Given the description of an element on the screen output the (x, y) to click on. 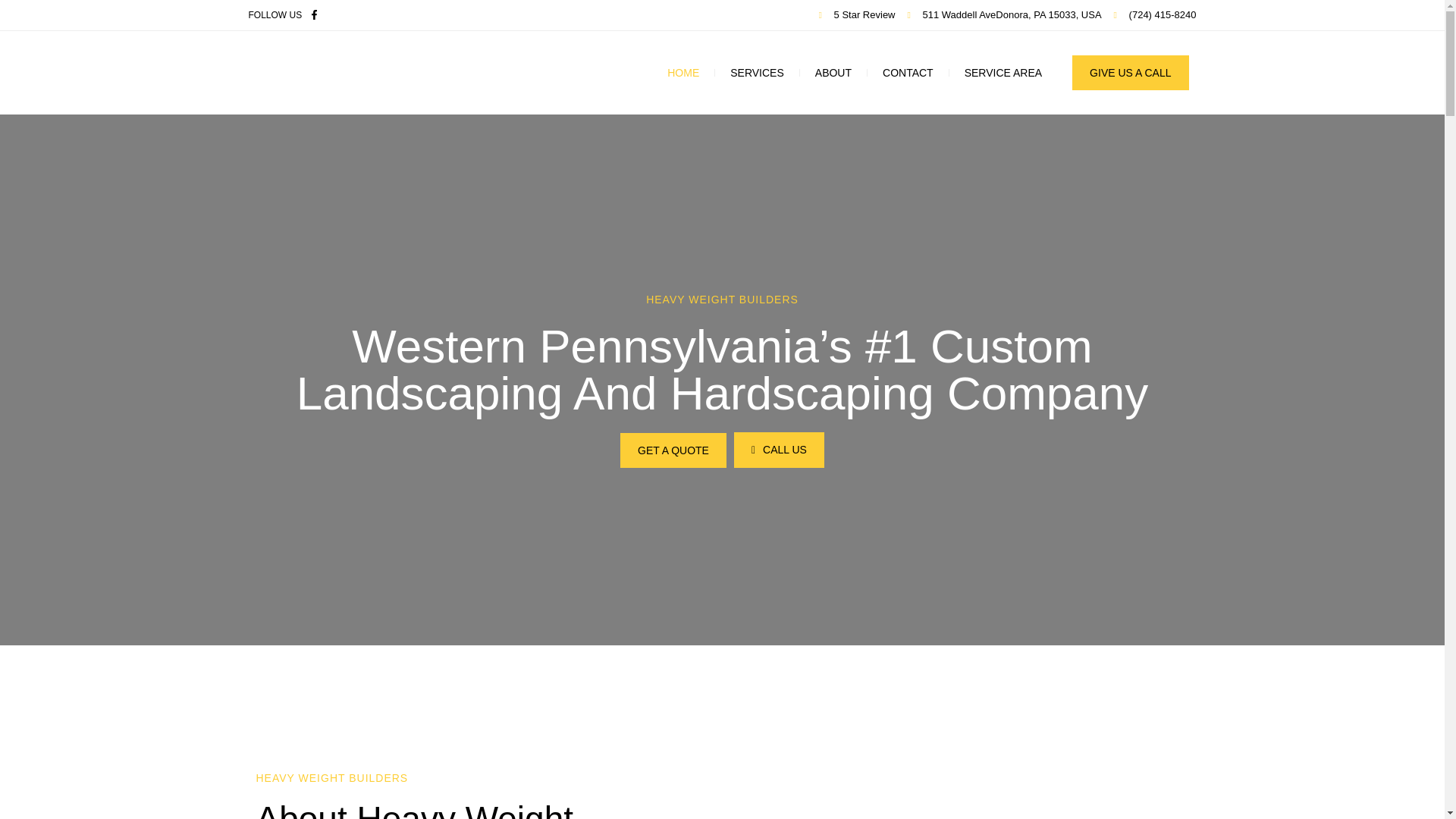
GIVE US A CALL (1129, 72)
HOME (683, 72)
SERVICES (756, 72)
ABOUT (832, 72)
SERVICE AREA (1003, 72)
CONTACT (908, 72)
GET A QUOTE (673, 450)
CALL US (778, 449)
511 Waddell AveDonora, PA 15033, USA (1003, 14)
